Given the description of an element on the screen output the (x, y) to click on. 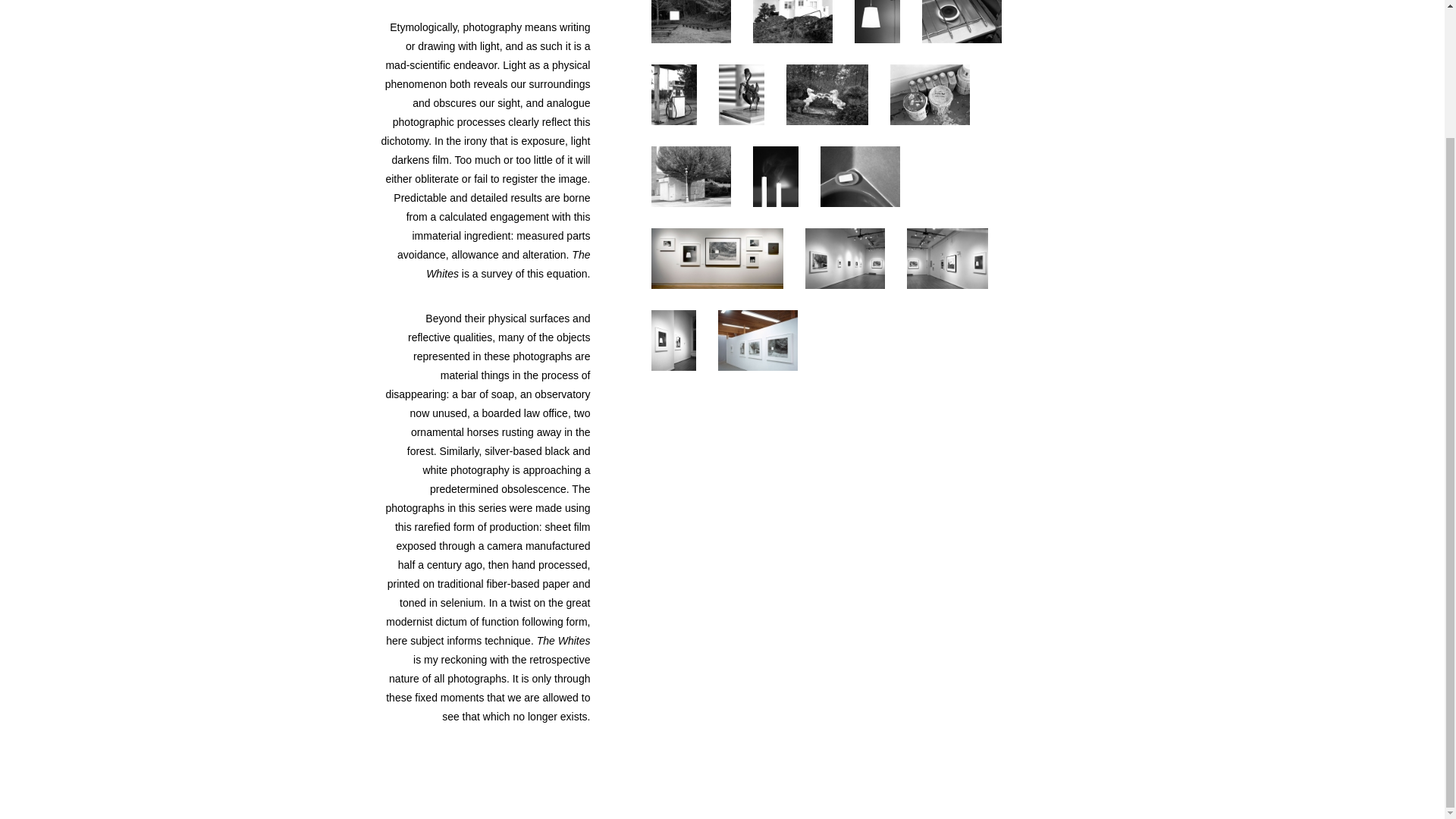
03 (876, 25)
02 (792, 25)
08 (929, 94)
07 (826, 94)
04 (961, 25)
01 (690, 25)
